Given the description of an element on the screen output the (x, y) to click on. 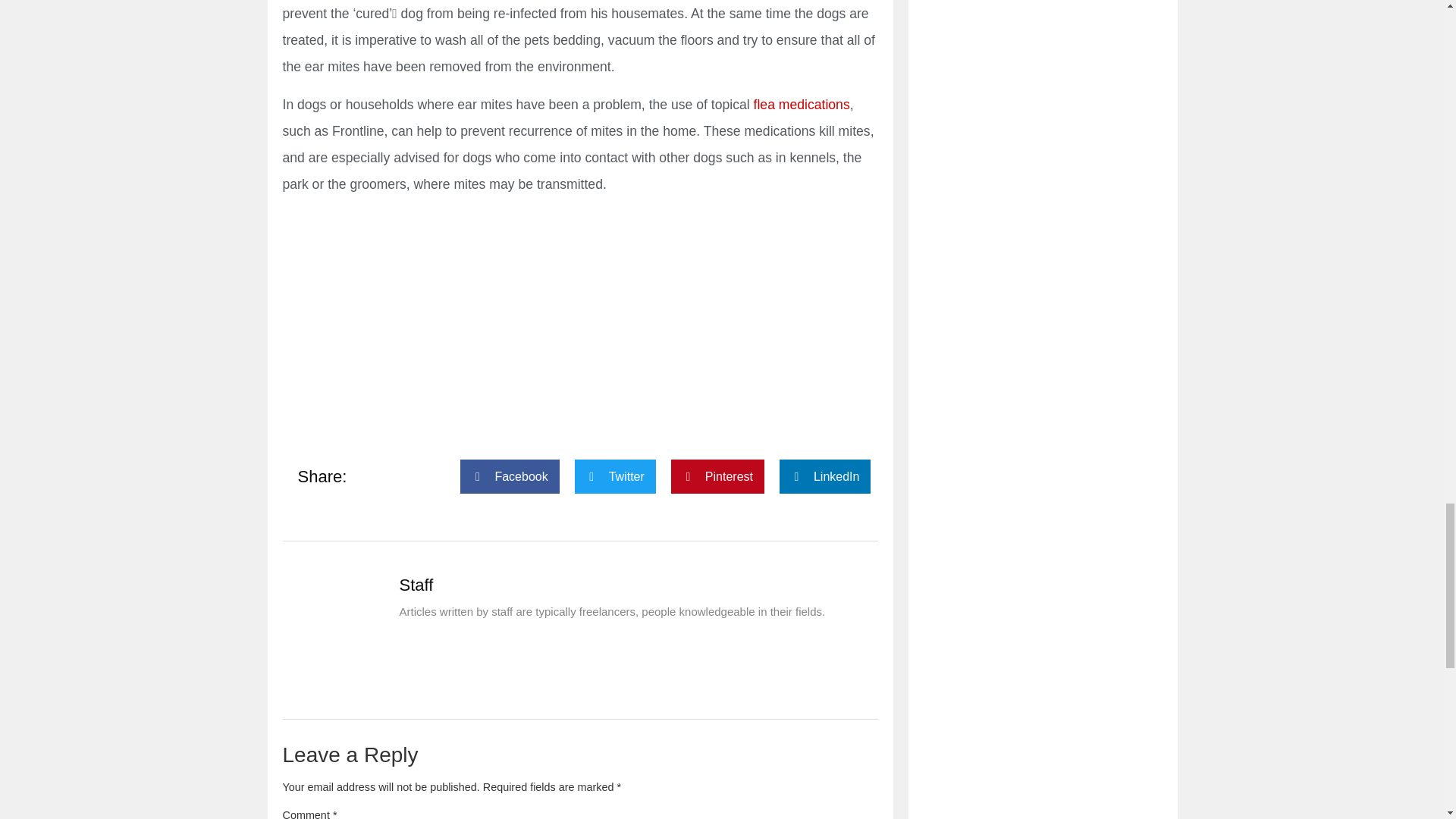
Getting Rid of Fleas (802, 104)
Advertisement (579, 315)
